Given the description of an element on the screen output the (x, y) to click on. 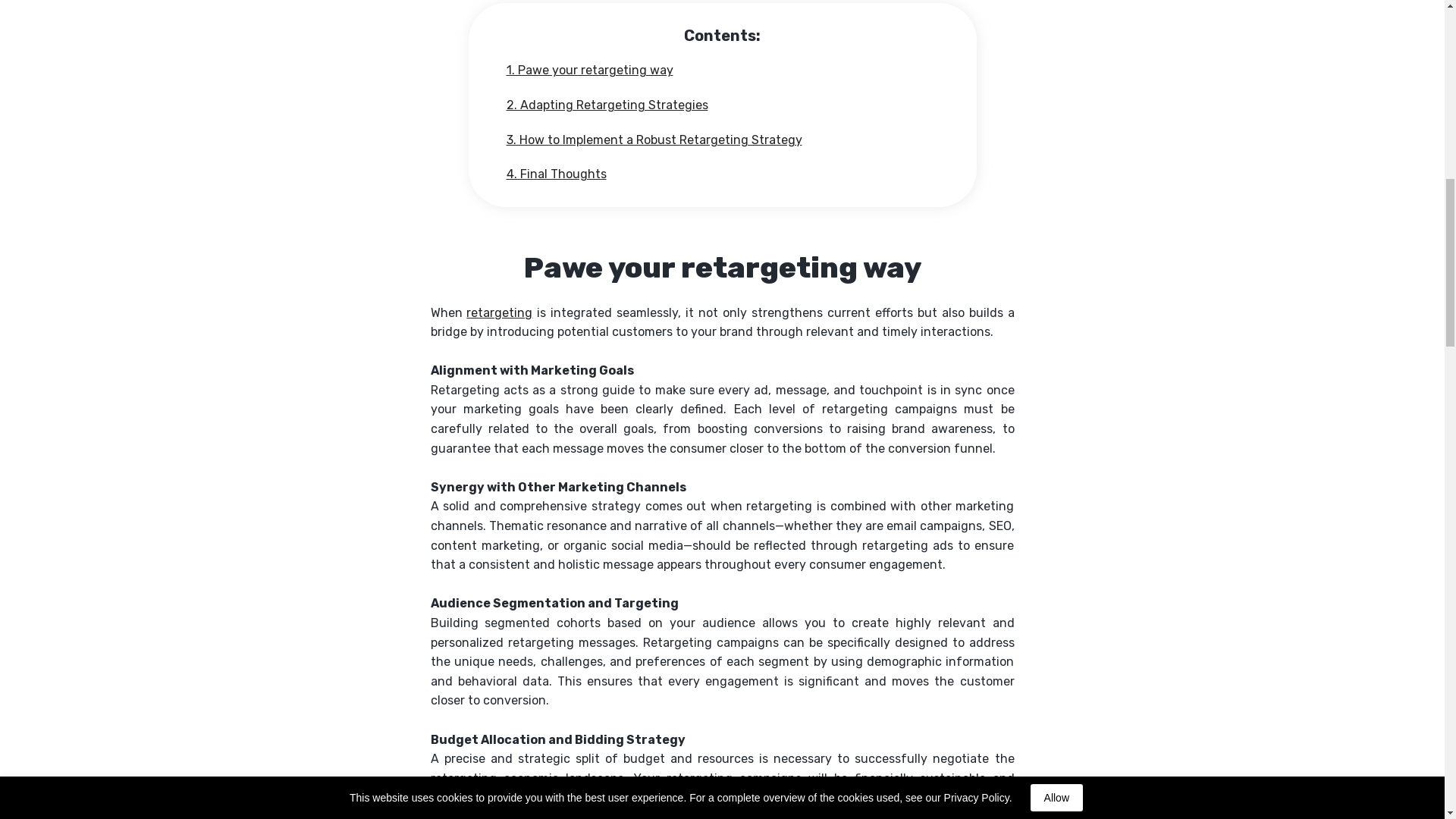
3. How to Implement a Robust Retargeting Strategy (654, 139)
retargeting (498, 311)
1. Pawe your retargeting way (589, 69)
2. Adapting Retargeting Strategies (606, 104)
4. Final Thoughts (556, 173)
